Given the description of an element on the screen output the (x, y) to click on. 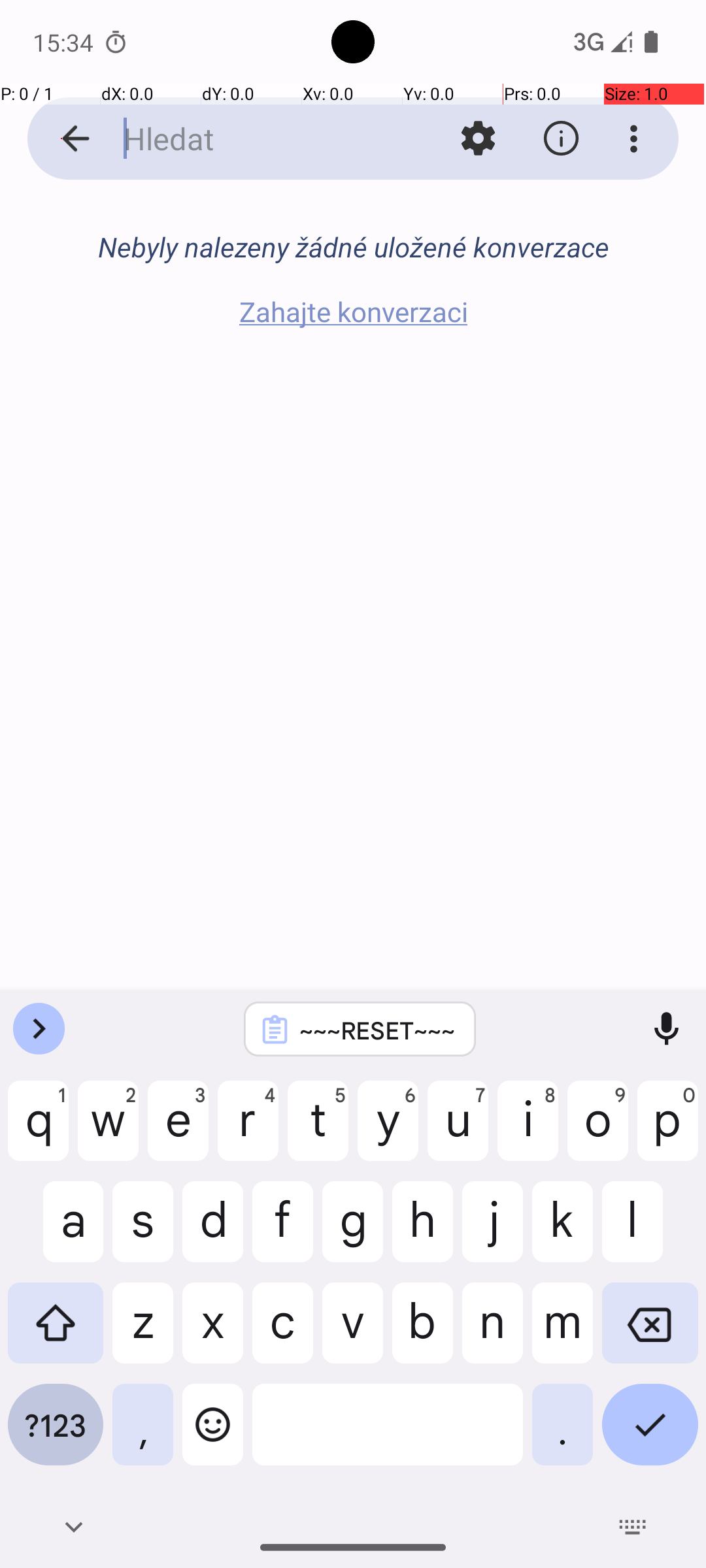
Zpět Element type: android.widget.ImageView (61, 138)
O aplikaci Element type: android.widget.Button (560, 138)
Nebyly nalezeny žádné uložené konverzace Element type: android.widget.TextView (353, 246)
Zahajte konverzaci Element type: android.widget.TextView (352, 311)
